Given the description of an element on the screen output the (x, y) to click on. 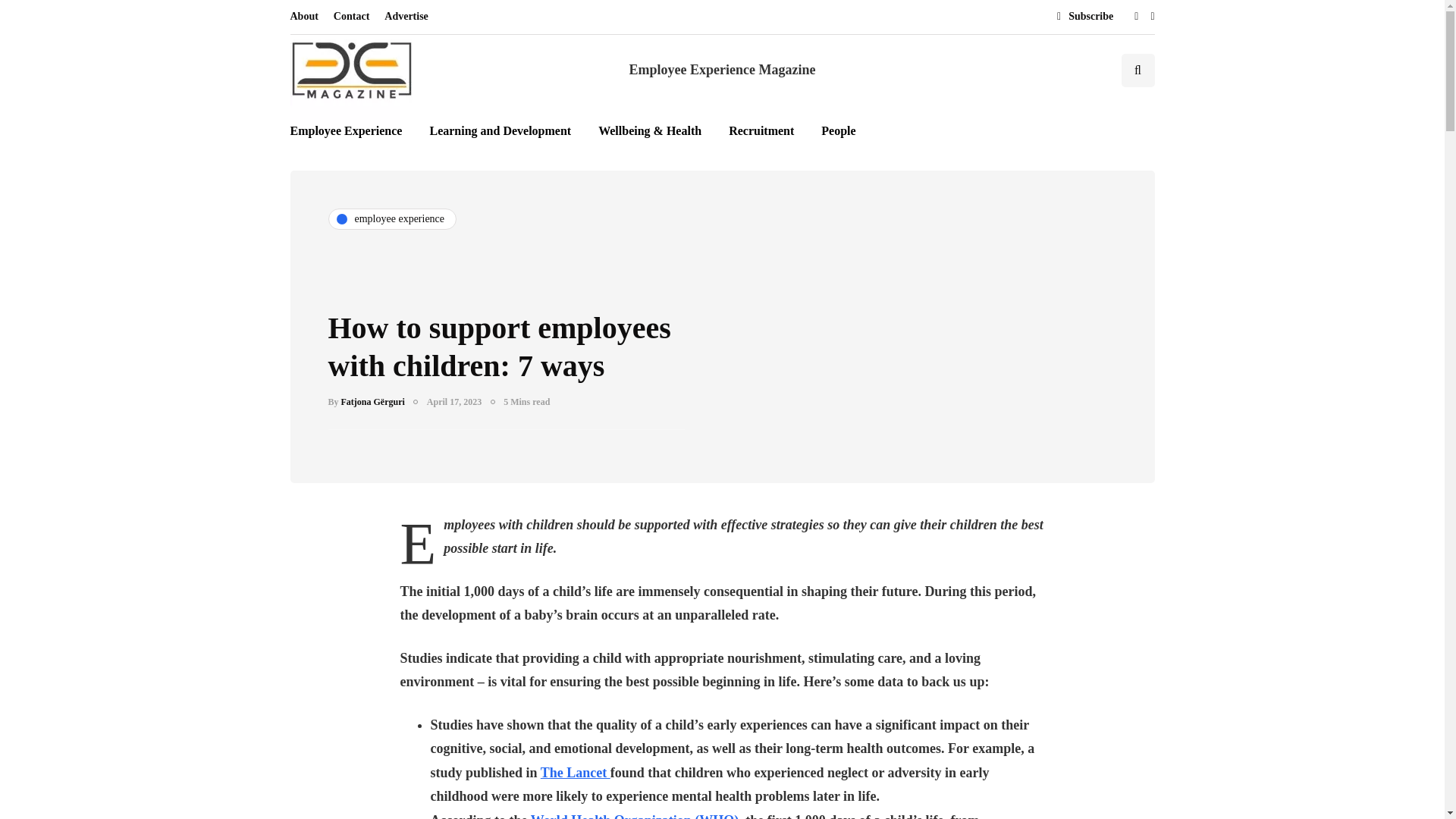
Contact (351, 17)
Learning and Development (499, 130)
employee experience (392, 218)
People (838, 130)
About (306, 17)
The Lancet (575, 771)
Employee Experience (351, 130)
Recruitment (761, 130)
Advertise (406, 17)
Subscribe (1081, 17)
